Given the description of an element on the screen output the (x, y) to click on. 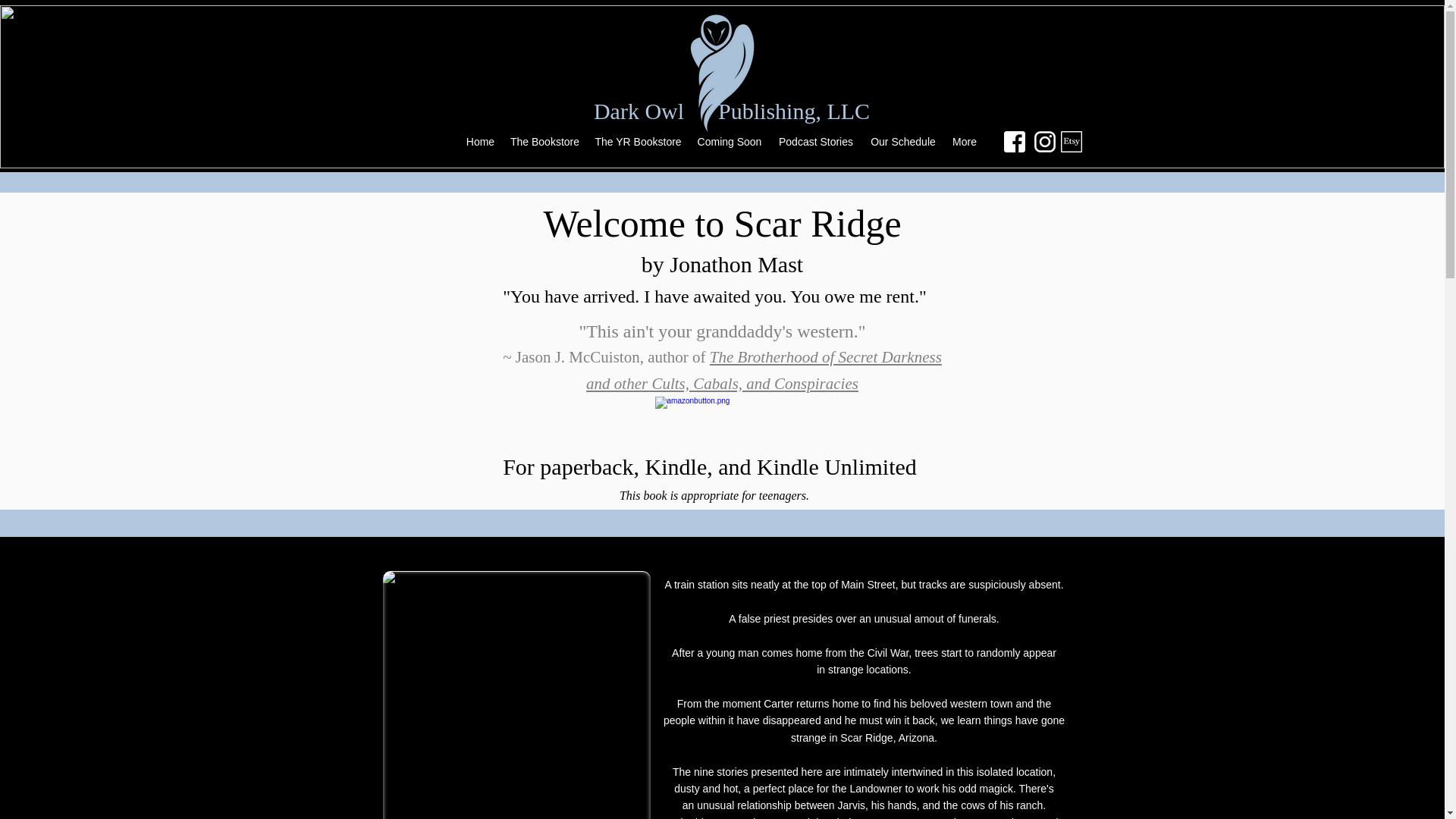
Dark Owl      Publishing, LLC (731, 110)
The Bookstore (544, 141)
Coming Soon (729, 141)
Home (480, 141)
Our Schedule (902, 141)
The YR Bookstore (637, 141)
Podcast Stories (815, 141)
